Given the description of an element on the screen output the (x, y) to click on. 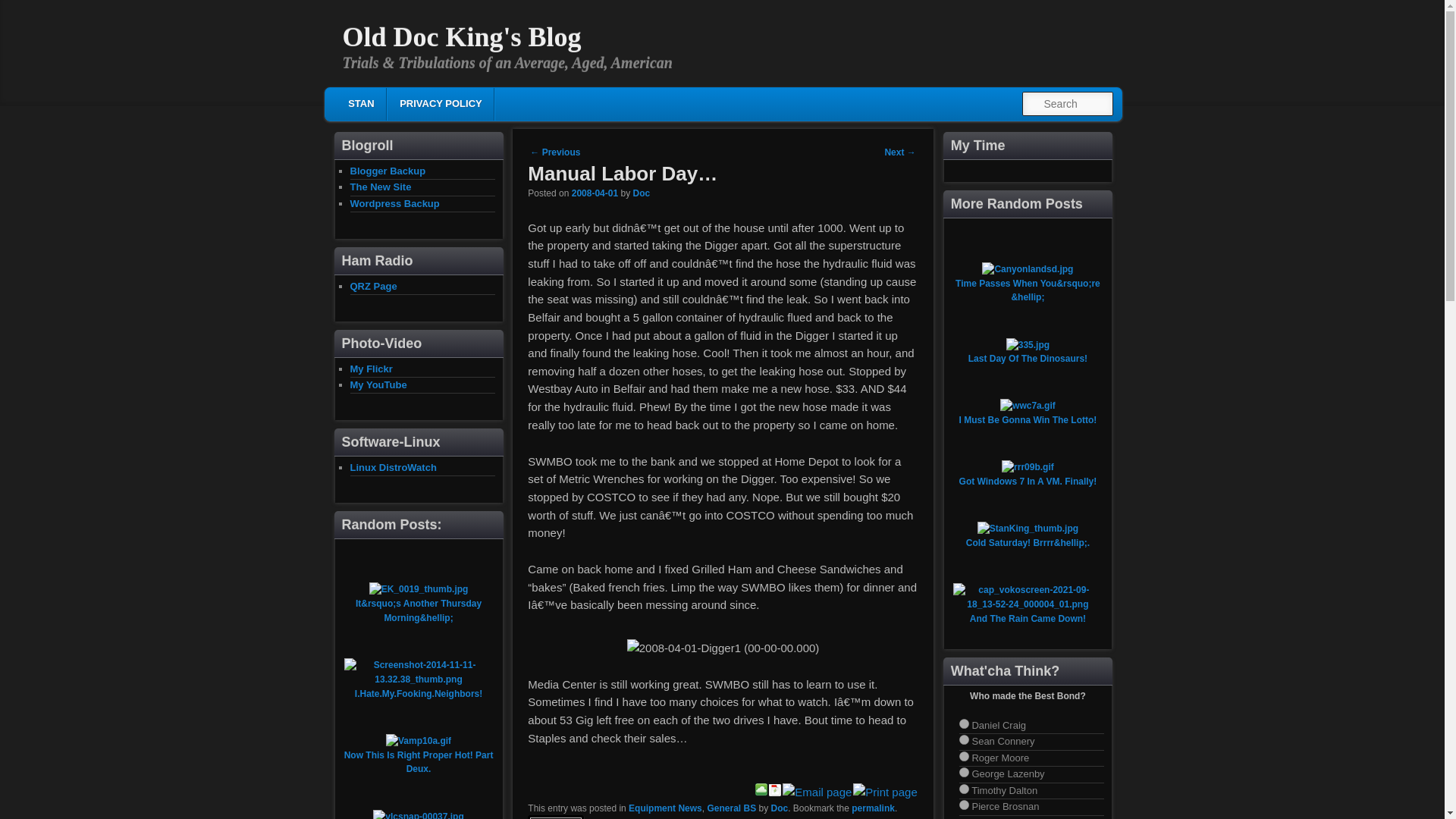
I.Hate.My.Fooking.Neighbors! (418, 693)
Email page (816, 791)
24 (964, 772)
Doc (640, 193)
Equipment News (664, 808)
PDF page (774, 791)
2008-04-01 (594, 193)
2152 (594, 193)
Skip to secondary content (445, 106)
PRIVACY POLICY (440, 103)
